Given the description of an element on the screen output the (x, y) to click on. 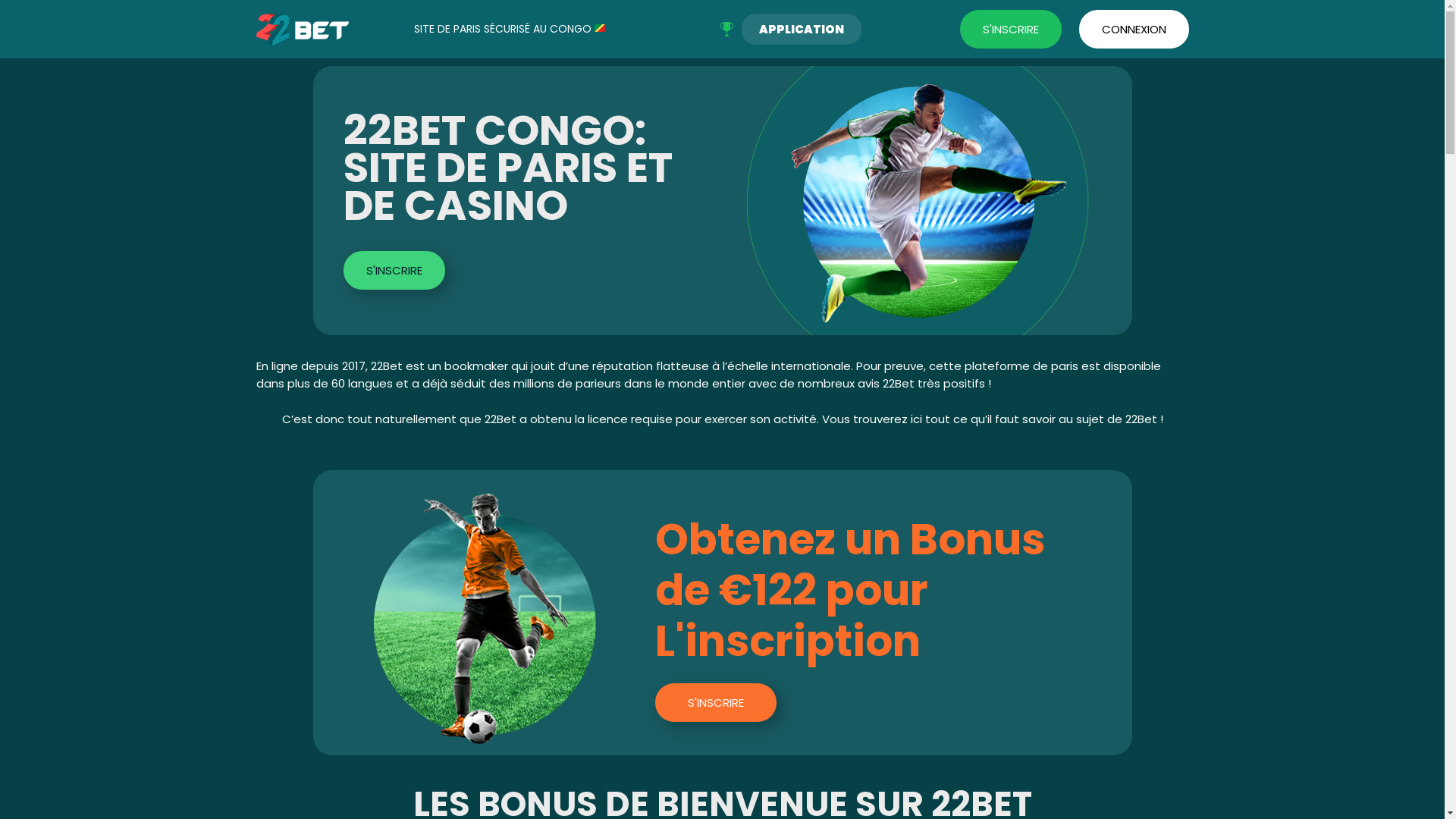
S'INSCRIRE Element type: text (393, 270)
22Bet Element type: hover (302, 29)
APPLICATION Element type: text (801, 28)
22Bet bonus Element type: hover (484, 617)
S'INSCRIRE Element type: text (1010, 28)
22Bet Congo Element type: hover (917, 199)
CONNEXION Element type: text (1133, 28)
S'INSCRIRE Element type: text (715, 702)
